Given the description of an element on the screen output the (x, y) to click on. 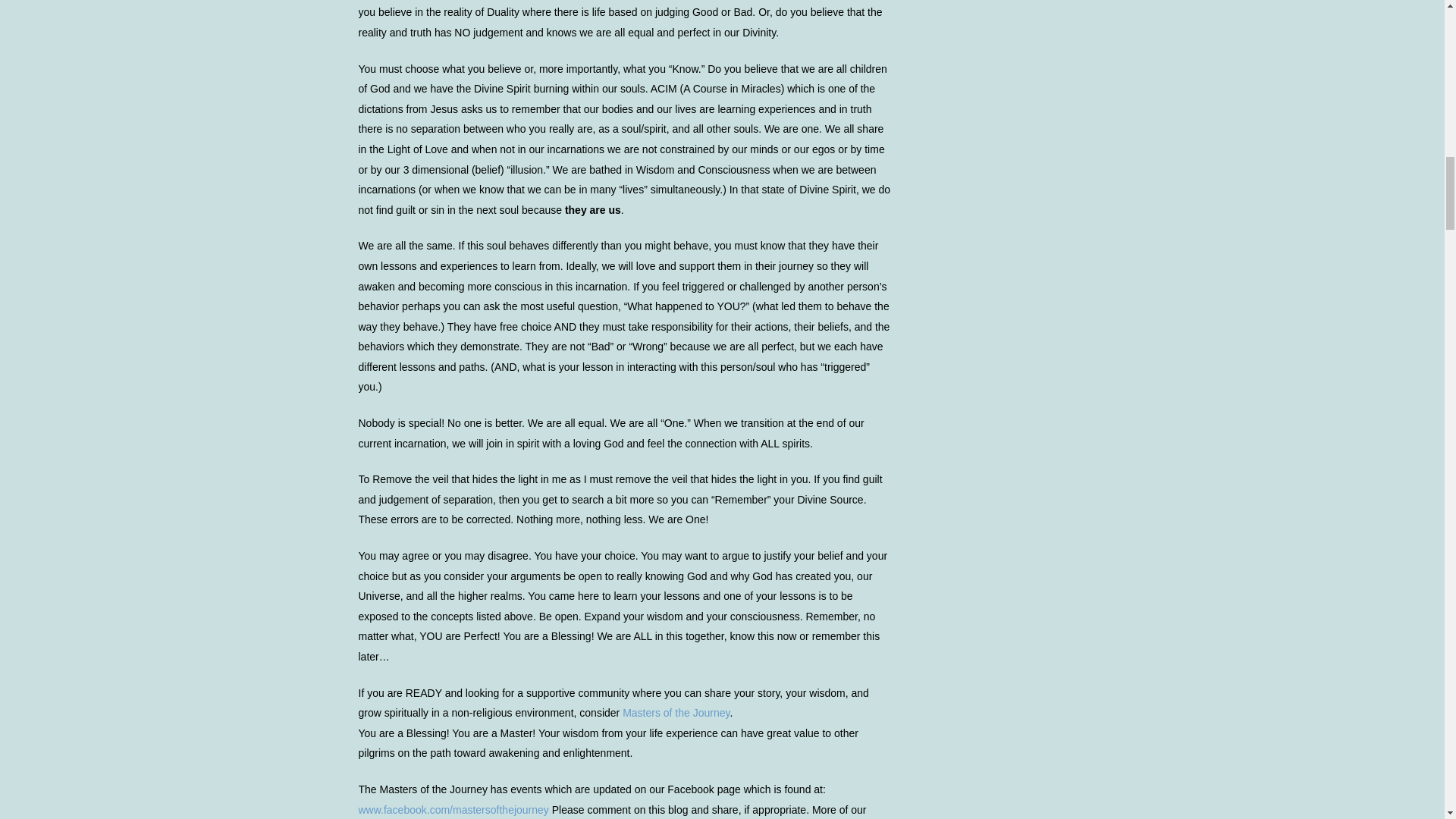
Masters of the Journey (676, 712)
